Given the description of an element on the screen output the (x, y) to click on. 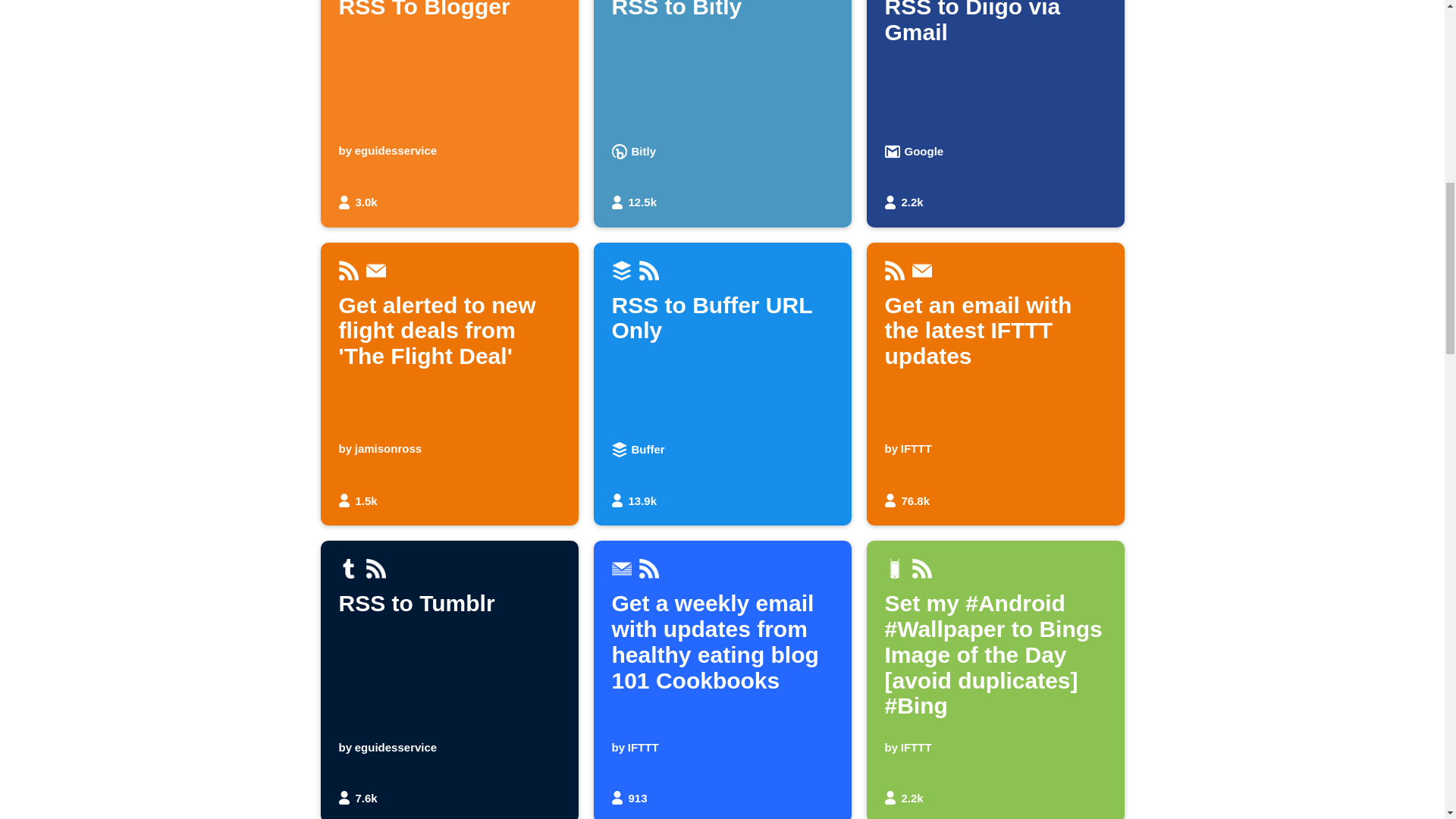
3.0k users enabled this Applet (721, 113)
